Given the description of an element on the screen output the (x, y) to click on. 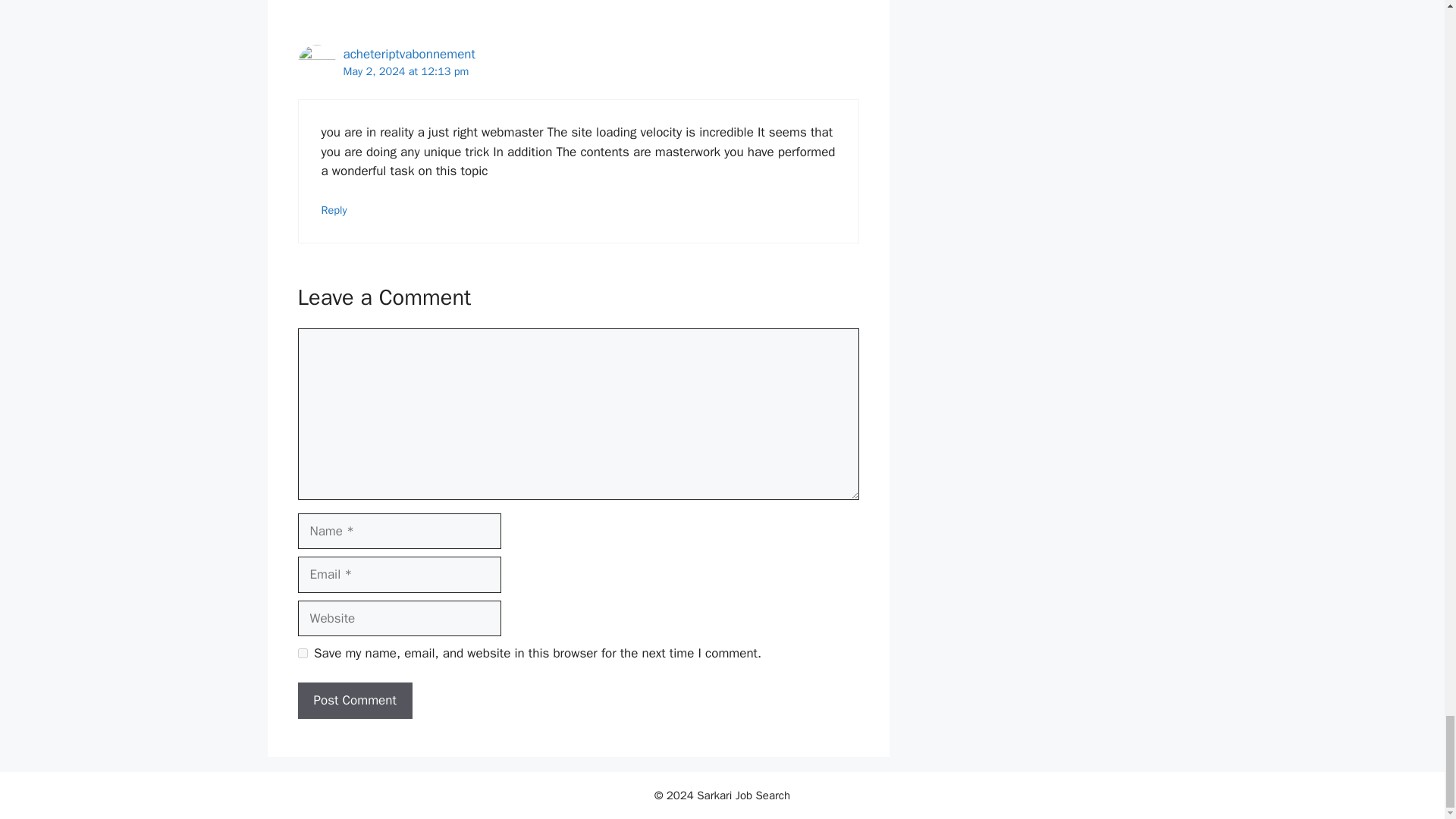
yes (302, 653)
Post Comment (354, 700)
